Given the description of an element on the screen output the (x, y) to click on. 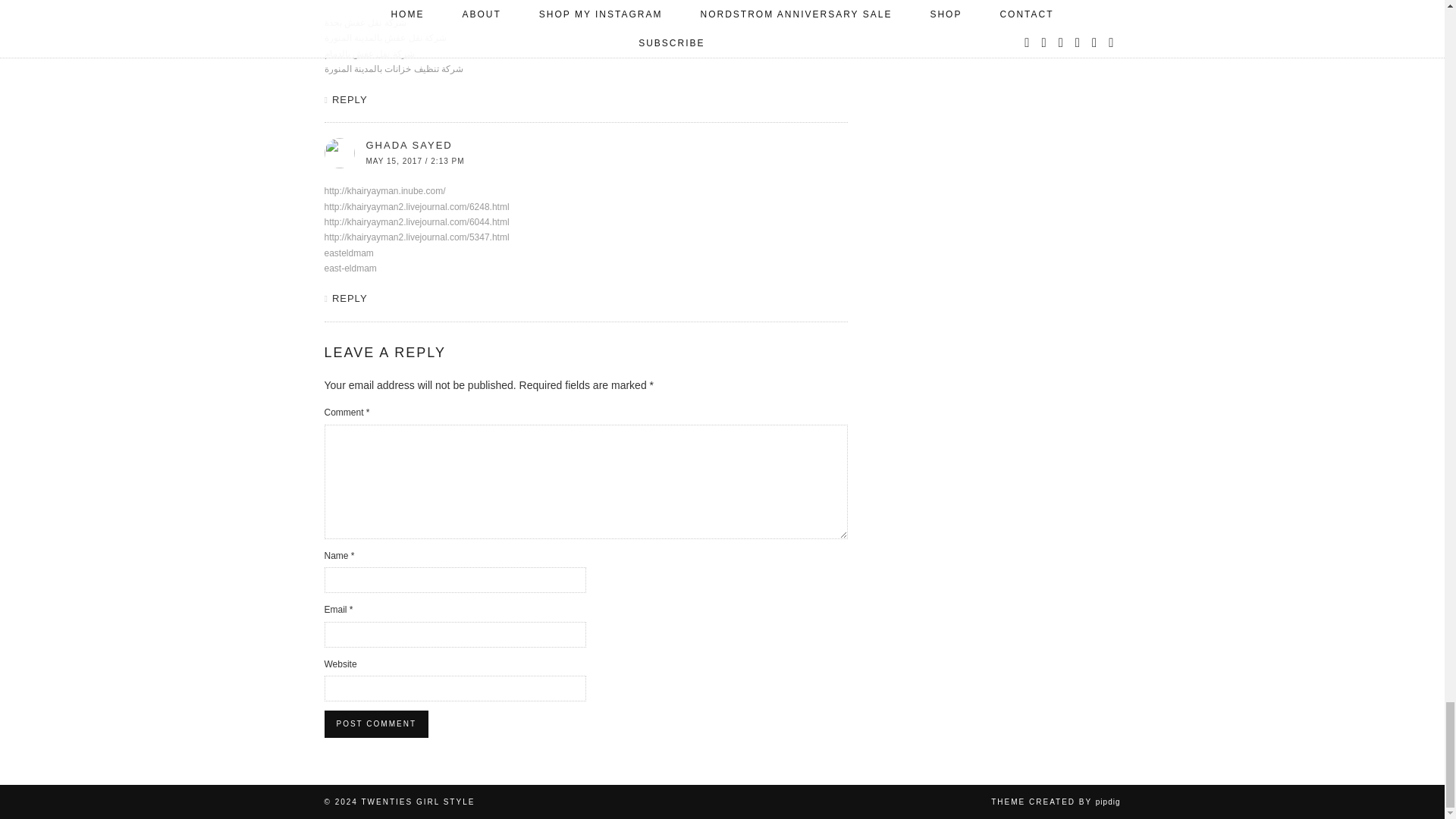
Post Comment (376, 723)
